Given the description of an element on the screen output the (x, y) to click on. 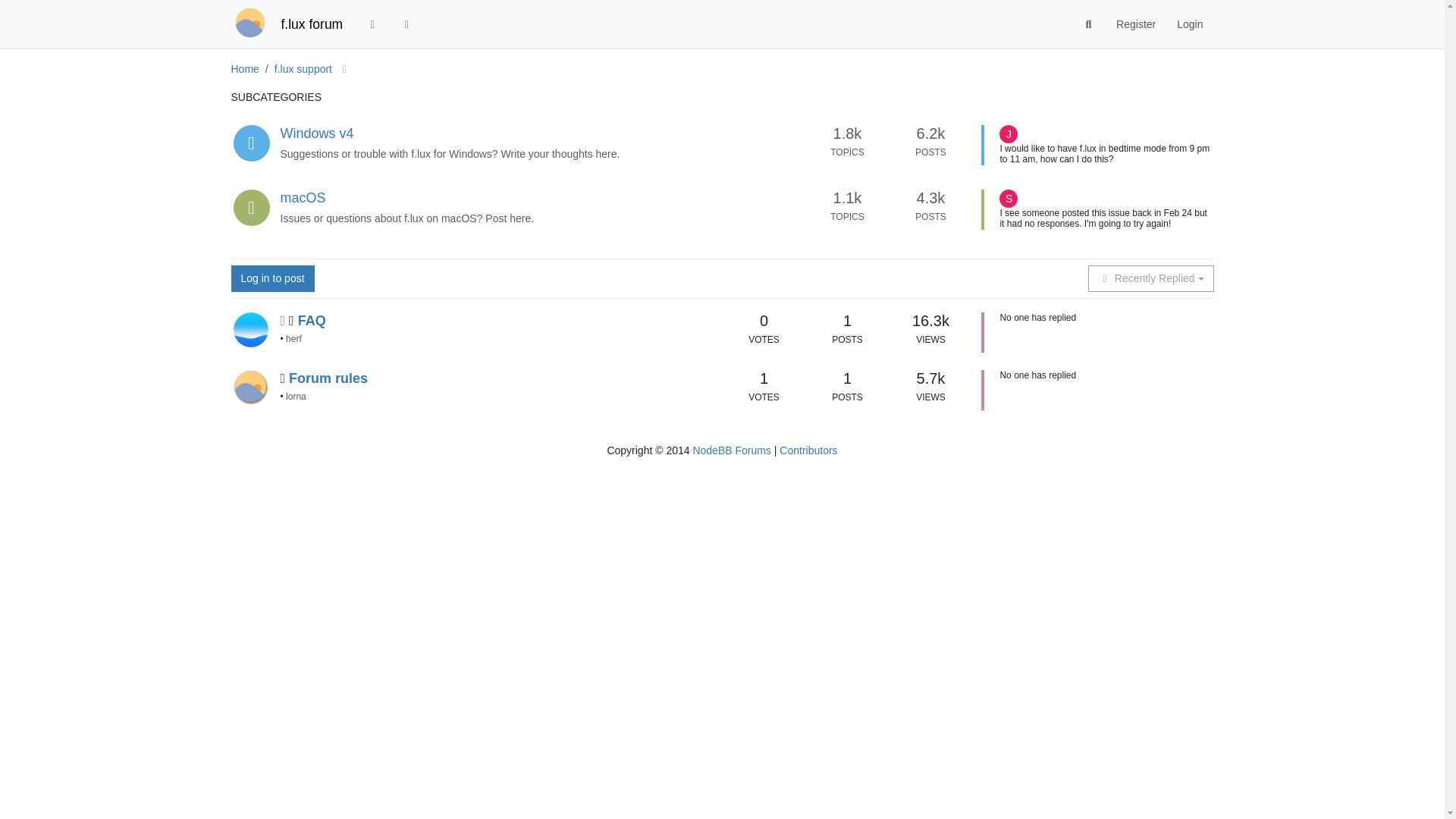
4324 (930, 197)
FAQ (312, 320)
Log in to post (272, 278)
Login (1189, 24)
macOS (303, 197)
herf (249, 329)
S (1007, 199)
1092 (846, 197)
Windows v4 (317, 133)
Recent (372, 24)
JCMiller23 (1007, 134)
f.lux support (304, 69)
herf (293, 338)
f.lux forum (311, 24)
Home (244, 69)
